Given the description of an element on the screen output the (x, y) to click on. 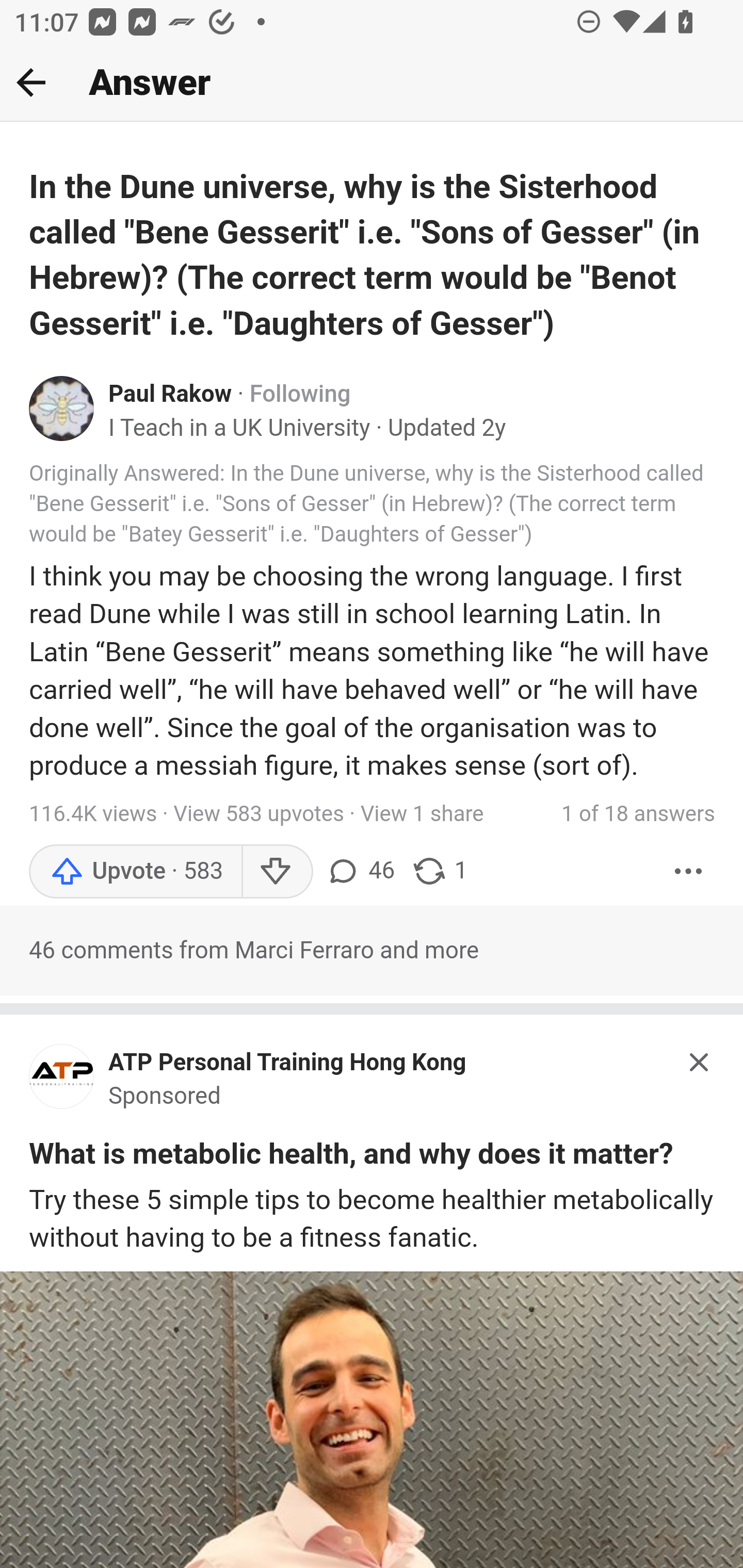
Me Home Search Add (371, 82)
Back Answer (371, 82)
Back (30, 82)
Profile photo for Paul Rakow (61, 407)
Paul Rakow (170, 394)
Following (300, 394)
Updated 2y Updated  2 y (446, 428)
View 583 upvotes (258, 814)
View 1 share (420, 814)
1 of 18 answers (637, 814)
Upvote (135, 871)
Downvote (277, 871)
46 comments (360, 871)
1 share (439, 871)
More (688, 871)
46 comments from Marci Ferraro and more (371, 950)
Hide (699, 1060)
main-qimg-1f396d5a5e054ddd9a425d683de3a2f9 (61, 1080)
ATP Personal Training Hong Kong (287, 1062)
Sponsored (165, 1096)
What is metabolic health, and why does it matter? (350, 1156)
